Given the description of an element on the screen output the (x, y) to click on. 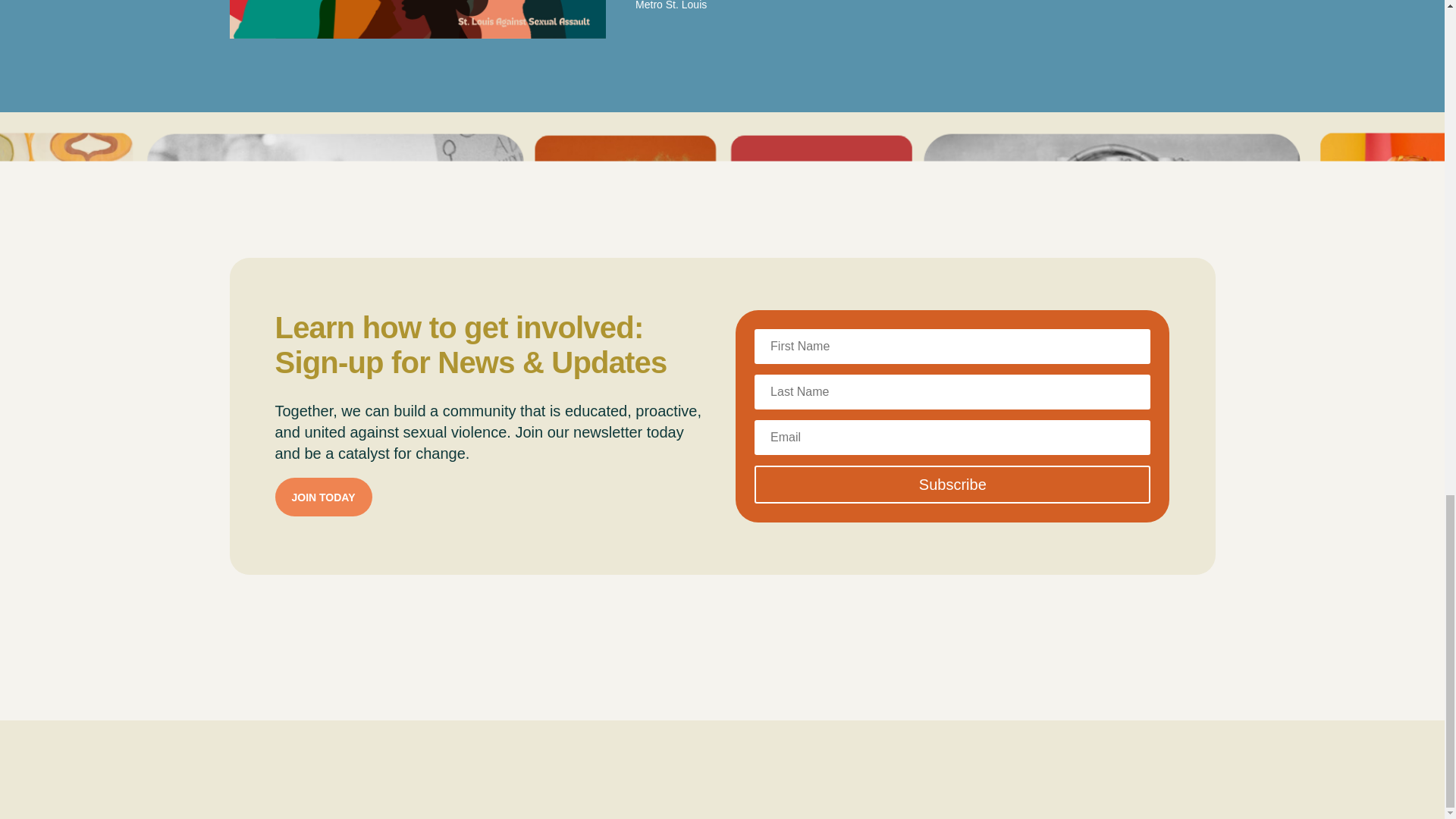
Subscribe (952, 484)
mural UMSL (416, 19)
JOIN TODAY (323, 496)
